Given the description of an element on the screen output the (x, y) to click on. 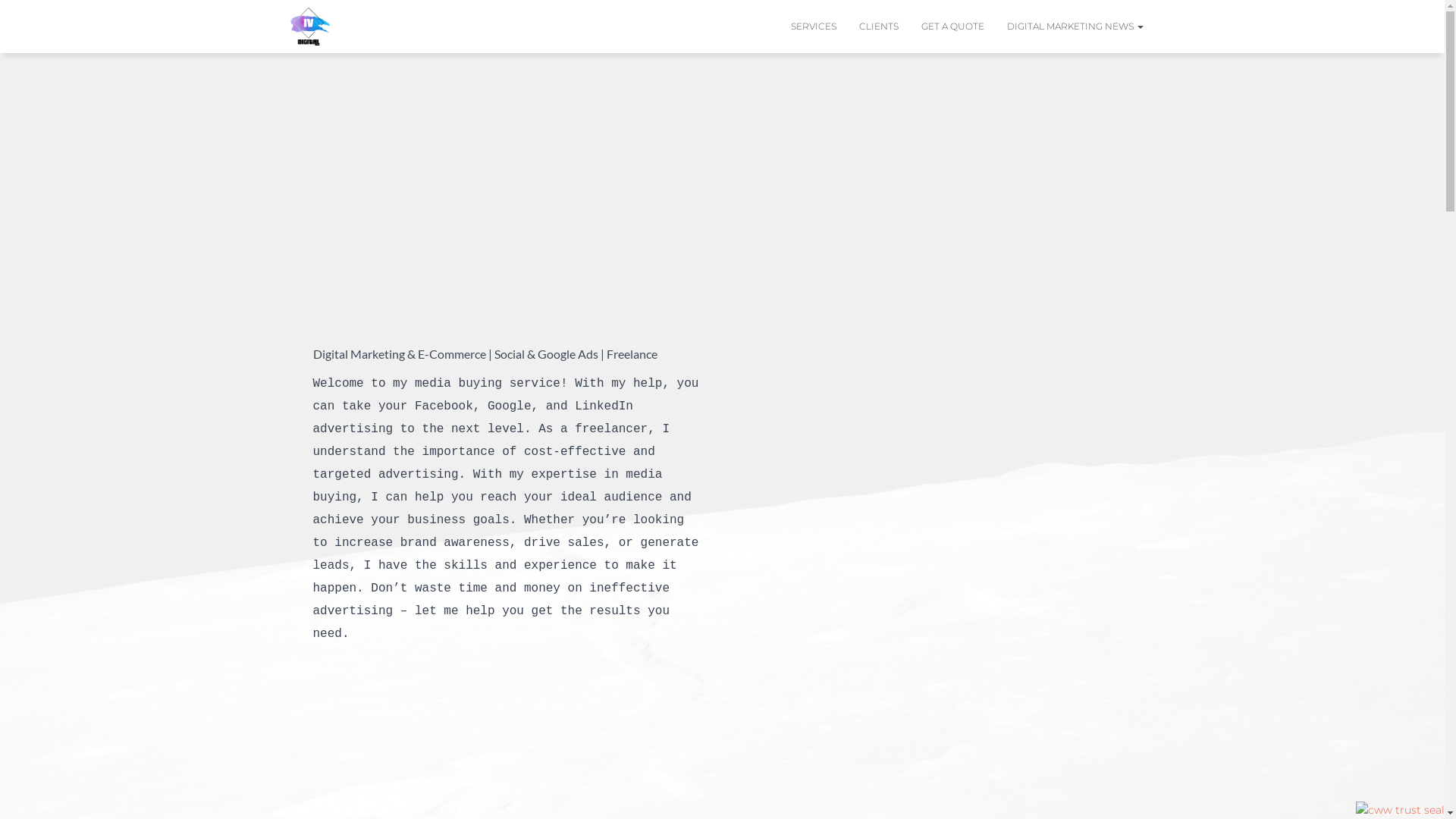
CLIENTS Element type: text (878, 25)
DIGITAL MARKETING NEWS Element type: text (1074, 25)
SERVICES Element type: text (813, 25)
GET A QUOTE Element type: text (952, 25)
IV Digital Marketing Element type: hover (311, 26)
